Given the description of an element on the screen output the (x, y) to click on. 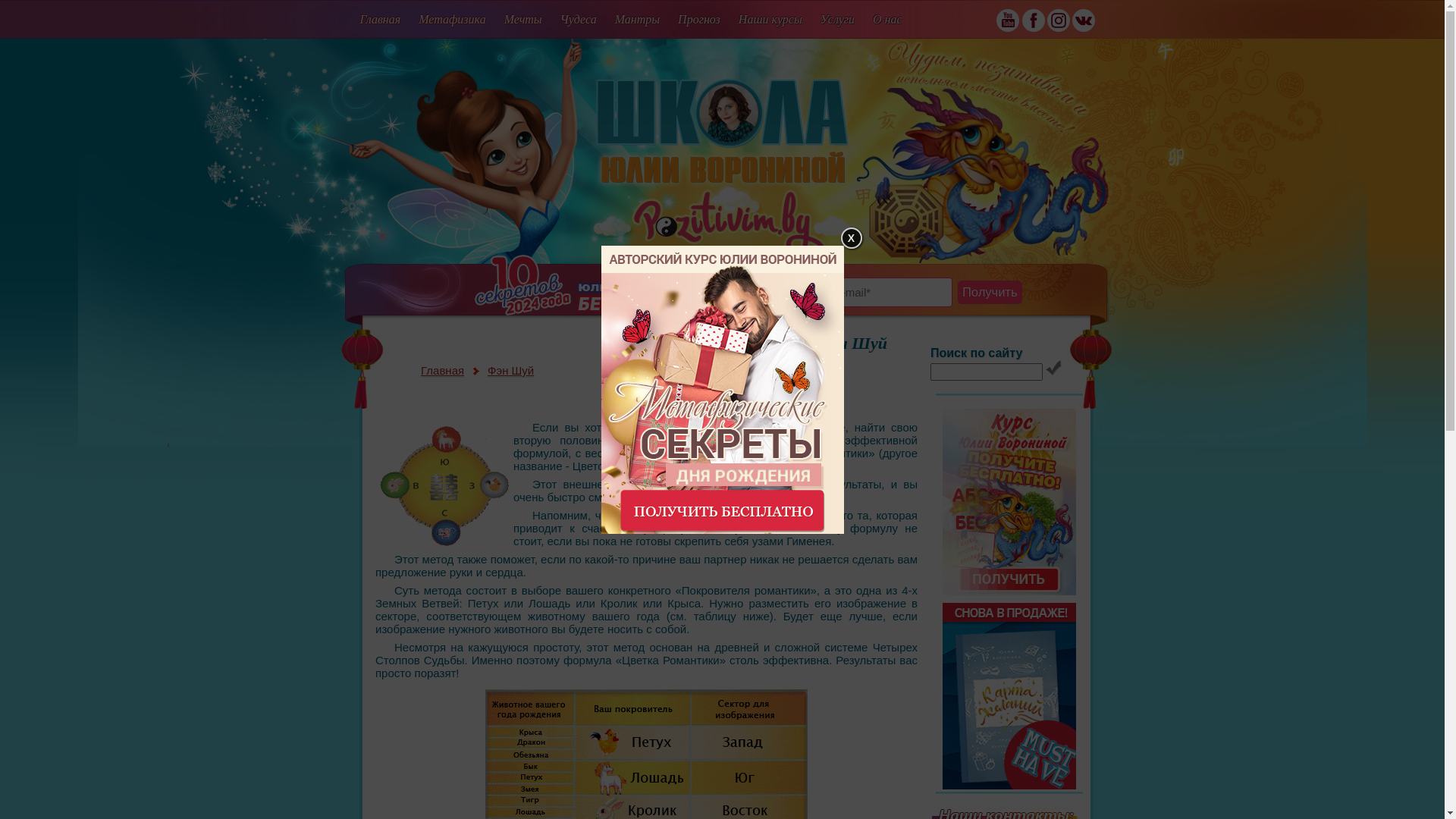
X Element type: text (850, 237)
